Given the description of an element on the screen output the (x, y) to click on. 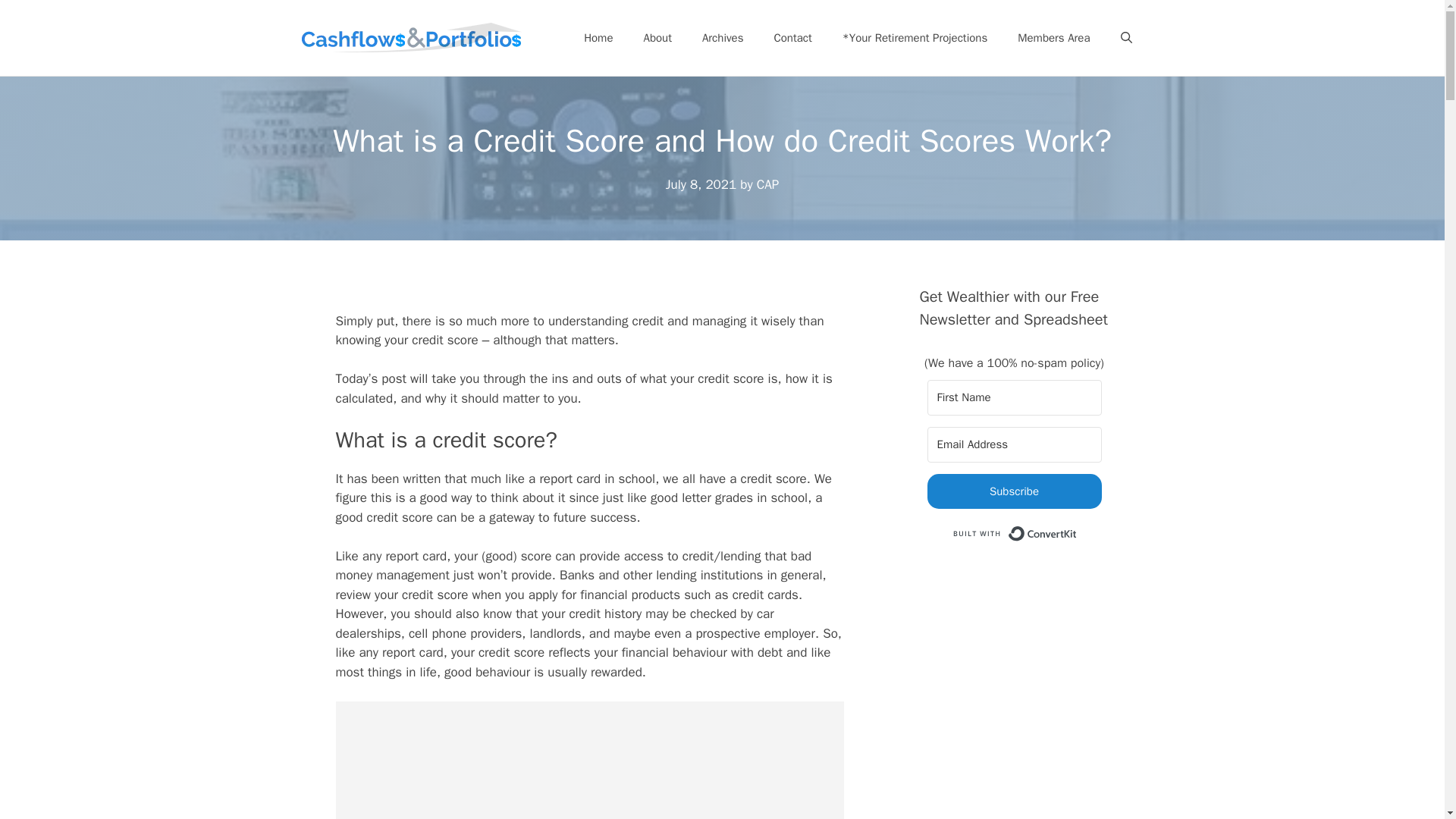
Home (598, 37)
View all posts by CAP (767, 184)
Archives (722, 37)
Contact (792, 37)
Members Area (1054, 37)
CAP (767, 184)
About (656, 37)
